Given the description of an element on the screen output the (x, y) to click on. 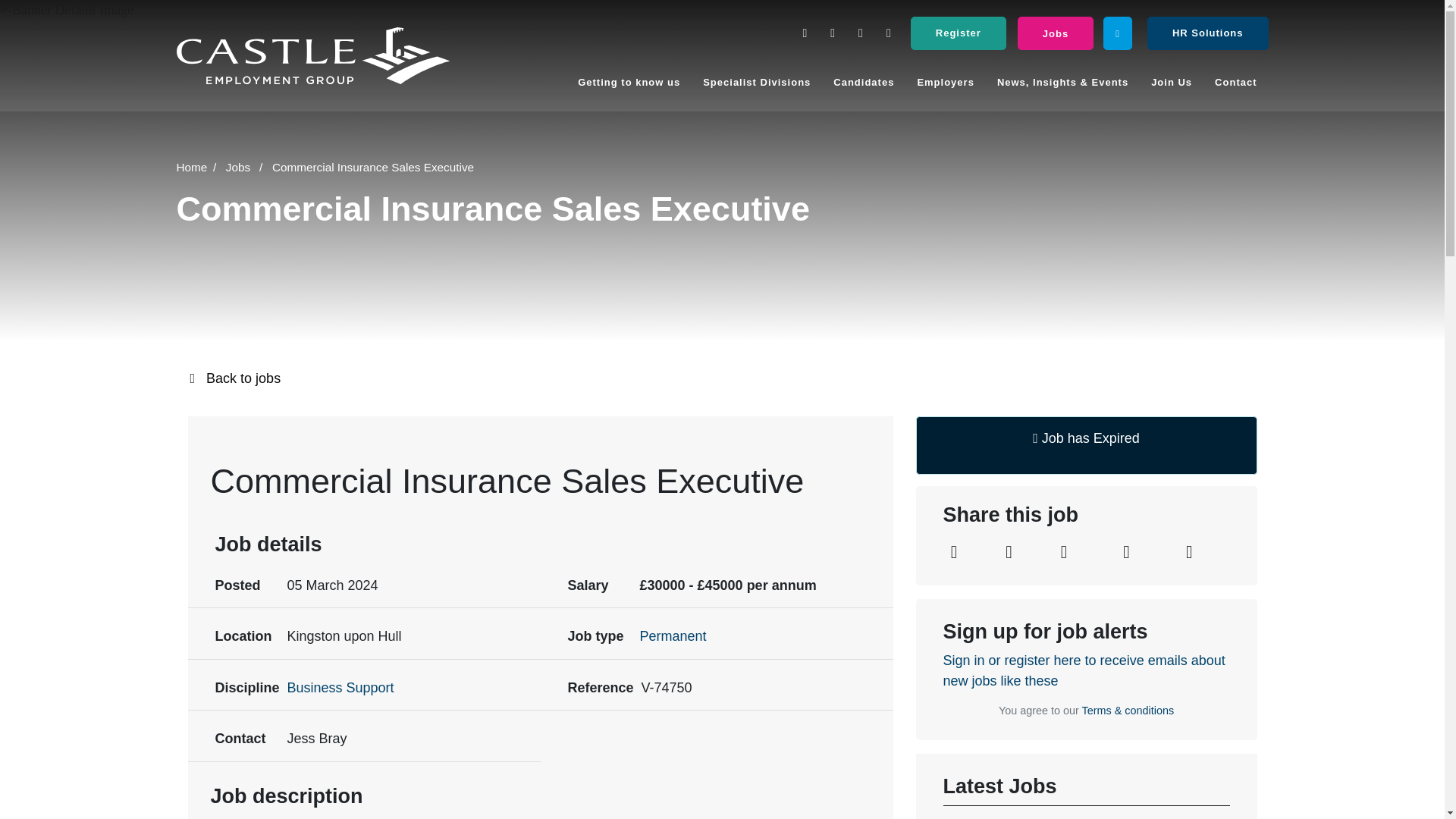
Employers (945, 83)
Register (958, 32)
Jobs (1055, 32)
Getting to know us (628, 83)
Specialist Divisions (756, 83)
HR Solutions (1207, 32)
Candidates (863, 83)
